Given the description of an element on the screen output the (x, y) to click on. 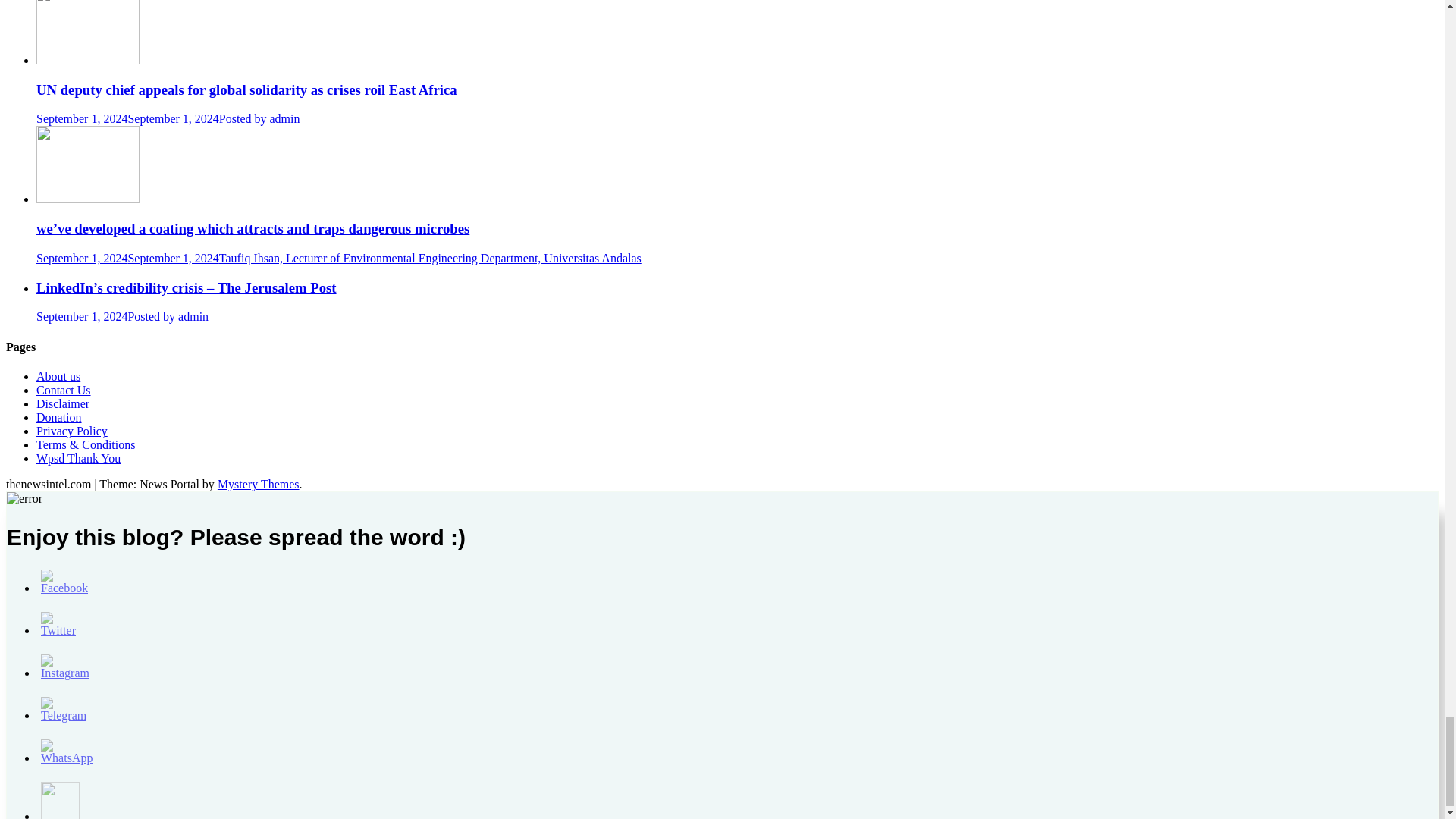
Twitter (60, 624)
Facebook (63, 582)
Instagram (64, 667)
Telegram (62, 709)
WhatsApp (66, 751)
